Given the description of an element on the screen output the (x, y) to click on. 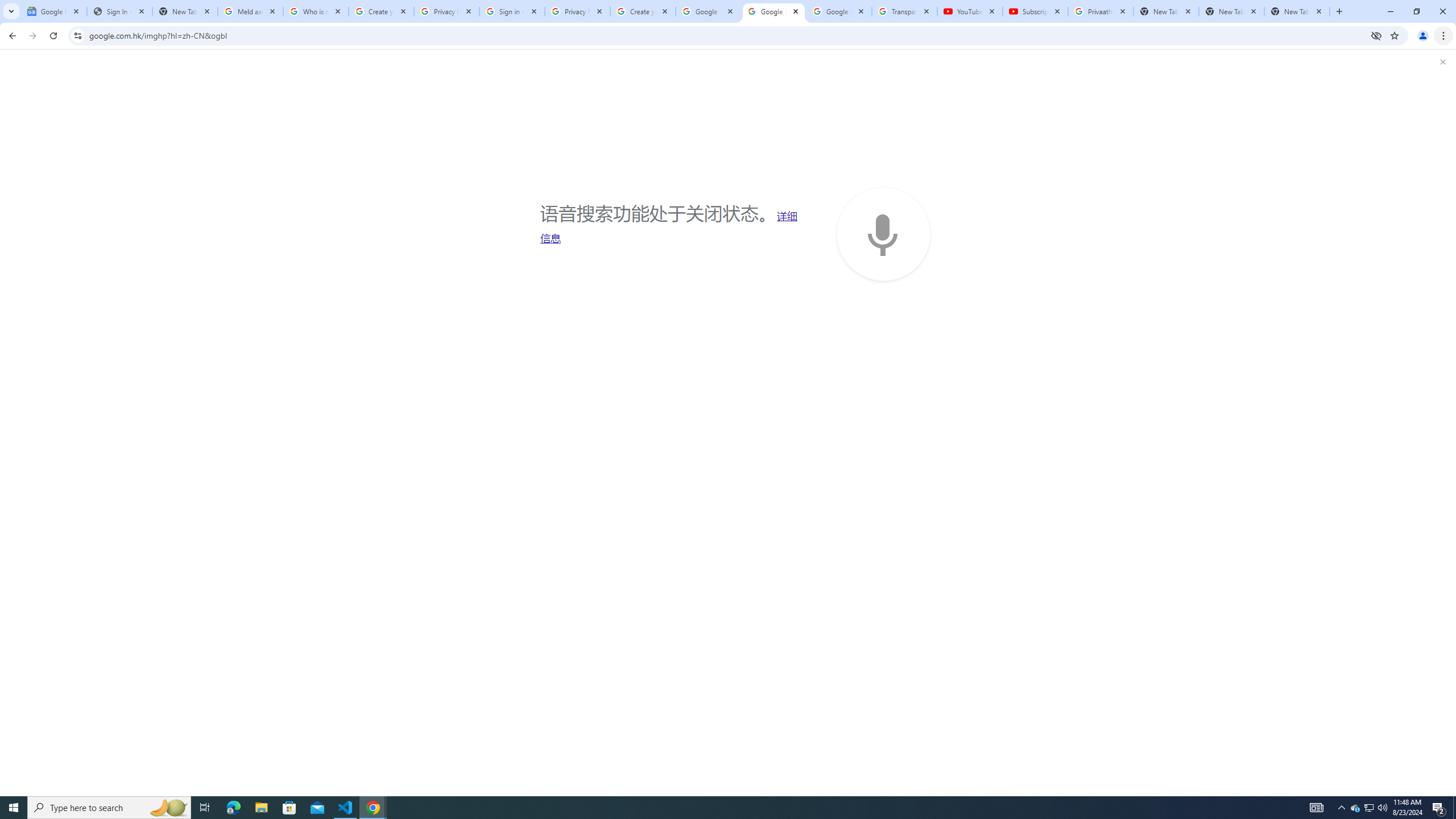
Google News (53, 11)
Sign in - Google Accounts (512, 11)
Create your Google Account (381, 11)
